Given the description of an element on the screen output the (x, y) to click on. 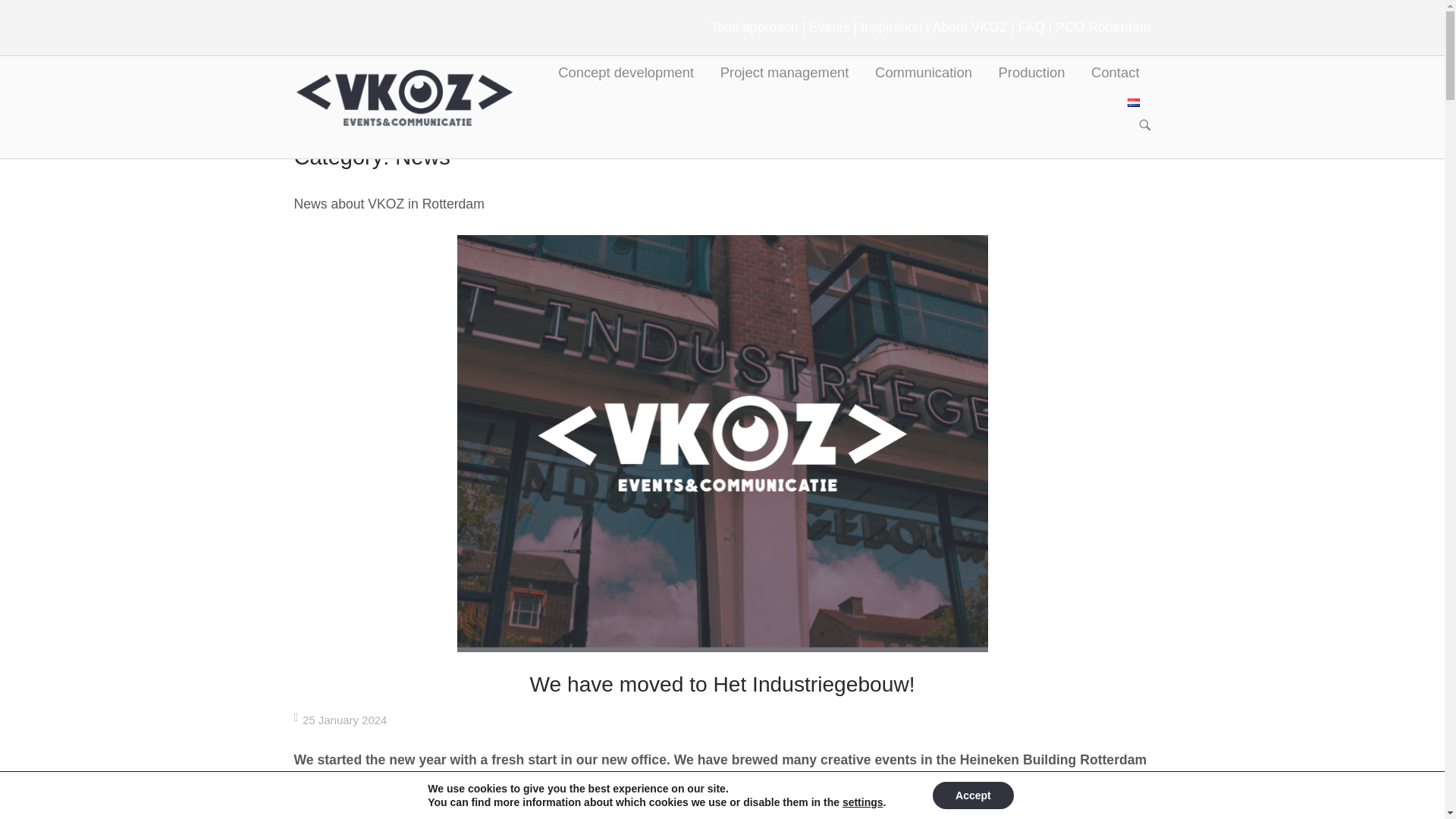
Communication (923, 72)
Inspiration (890, 27)
Production (1032, 72)
Home (403, 96)
Project management (784, 72)
25 January 2024 (344, 719)
Total approach (753, 27)
FAQ (1031, 27)
About VKOZ (970, 27)
Events (829, 27)
PCO Rotterdam (1102, 27)
Concept development (625, 72)
We have moved to Het Industriegebouw! (721, 684)
Contact (1115, 72)
